Given the description of an element on the screen output the (x, y) to click on. 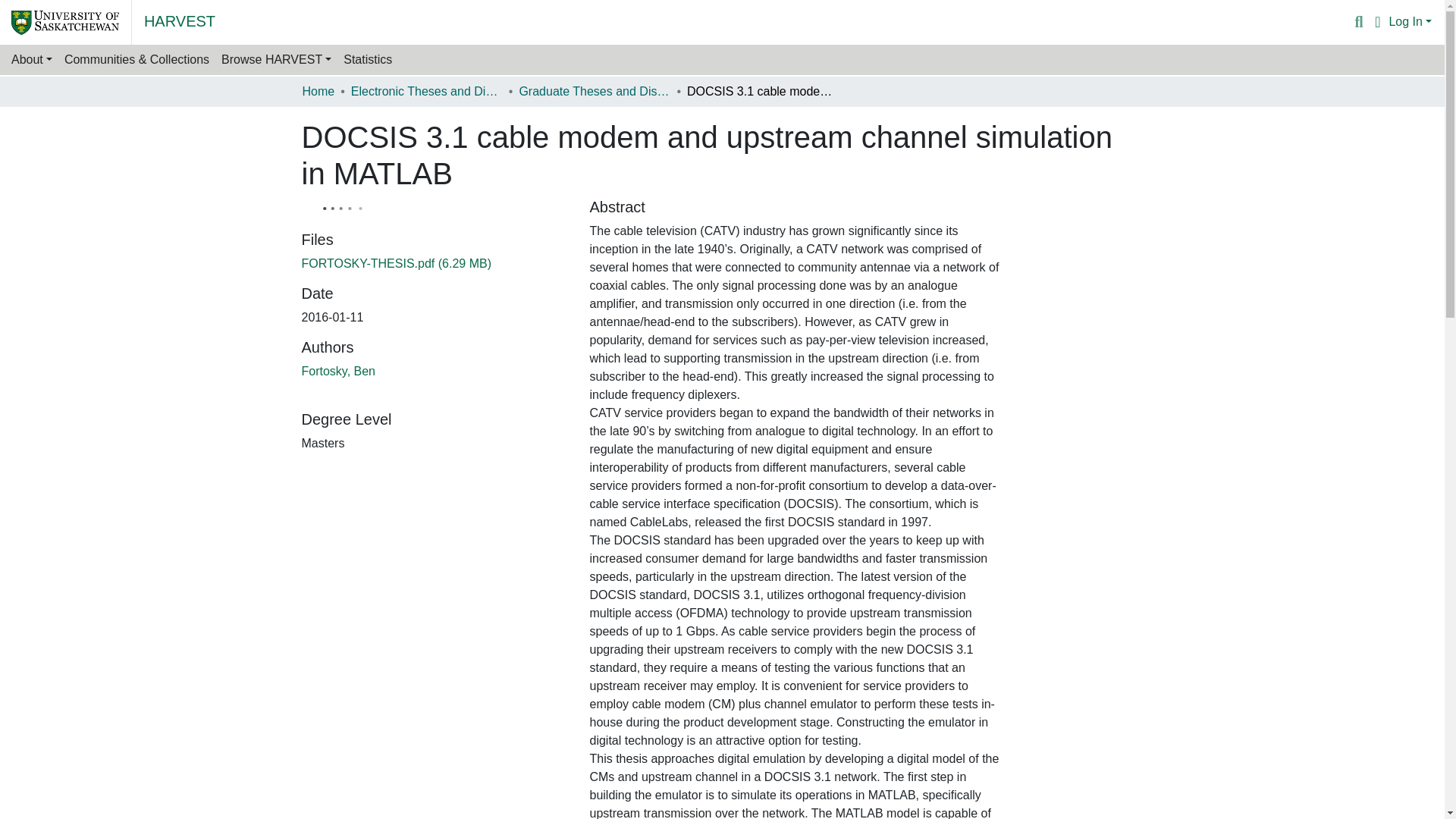
Graduate Theses and Dissertations (593, 91)
HARVEST (179, 20)
Fortosky, Ben (338, 370)
Home (317, 91)
Language switch (1377, 22)
Log In (1409, 21)
Browse HARVEST (276, 60)
About (31, 60)
Statistics (367, 60)
Statistics (367, 60)
